Given the description of an element on the screen output the (x, y) to click on. 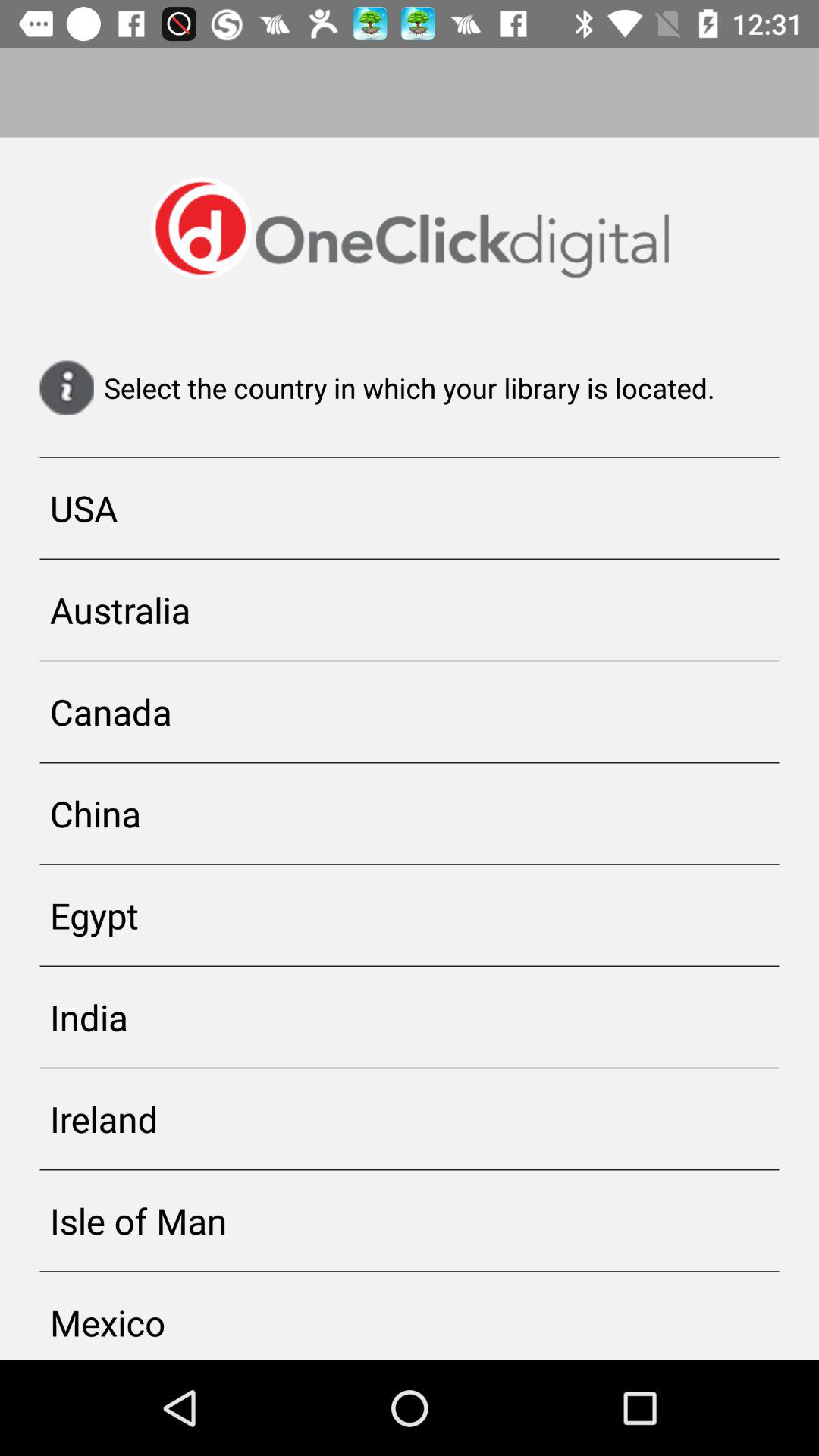
choose app below ireland app (409, 1220)
